Given the description of an element on the screen output the (x, y) to click on. 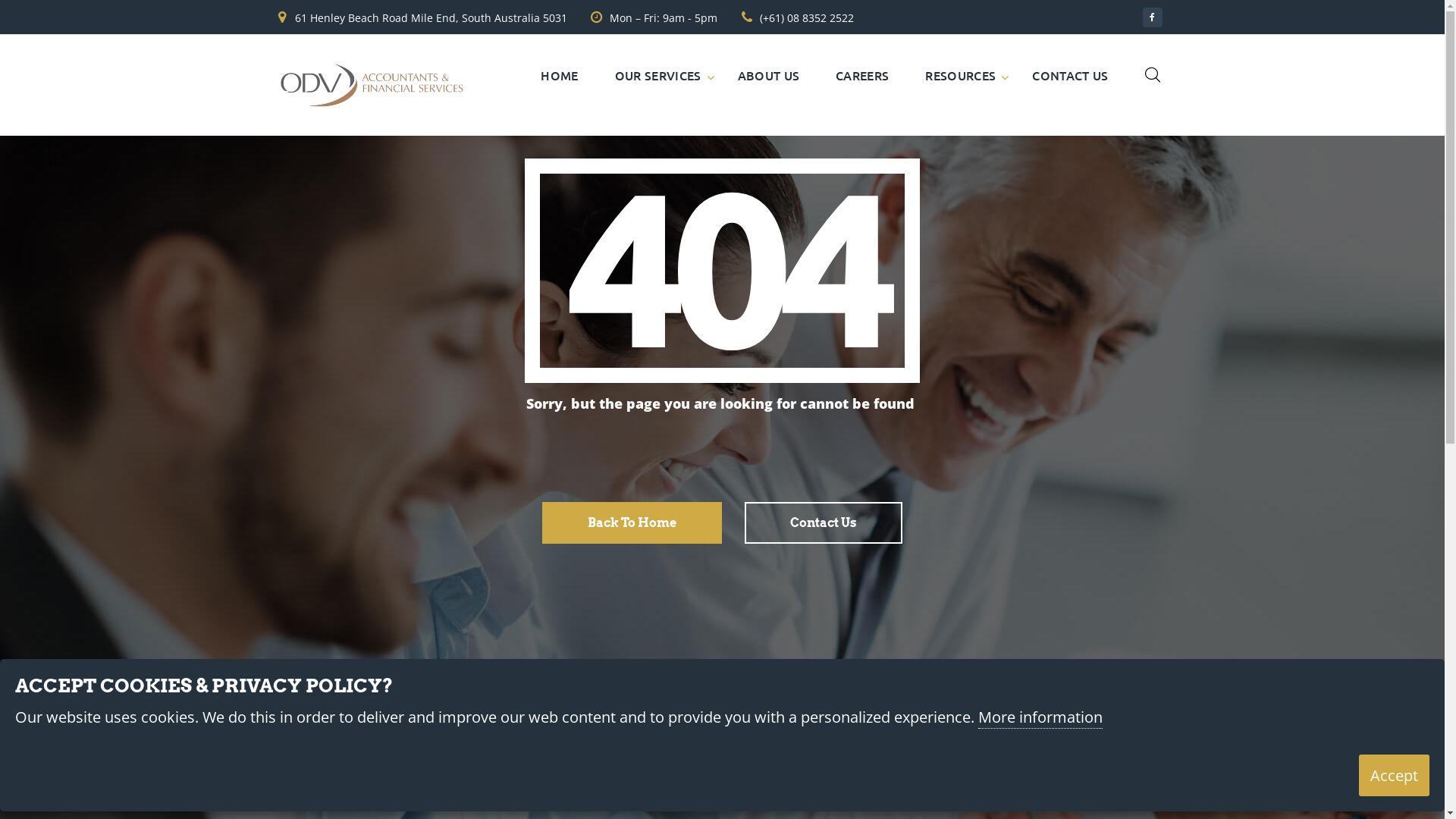
Accept Element type: text (1393, 775)
ABOUT US Element type: text (768, 74)
RESOURCES Element type: text (960, 74)
61 Henley Beach Road Mile End, South Australia 5031 Element type: text (430, 18)
More information Element type: text (1040, 717)
OUR SERVICES Element type: text (658, 74)
Facebook Element type: hover (1151, 17)
CONTACT US Element type: text (1069, 74)
Back To Home Element type: text (631, 522)
HOME Element type: text (558, 74)
(+61) 08 8352 2522 Element type: text (806, 18)
CAREERS Element type: text (861, 74)
Contact Us Element type: text (823, 522)
